Given the description of an element on the screen output the (x, y) to click on. 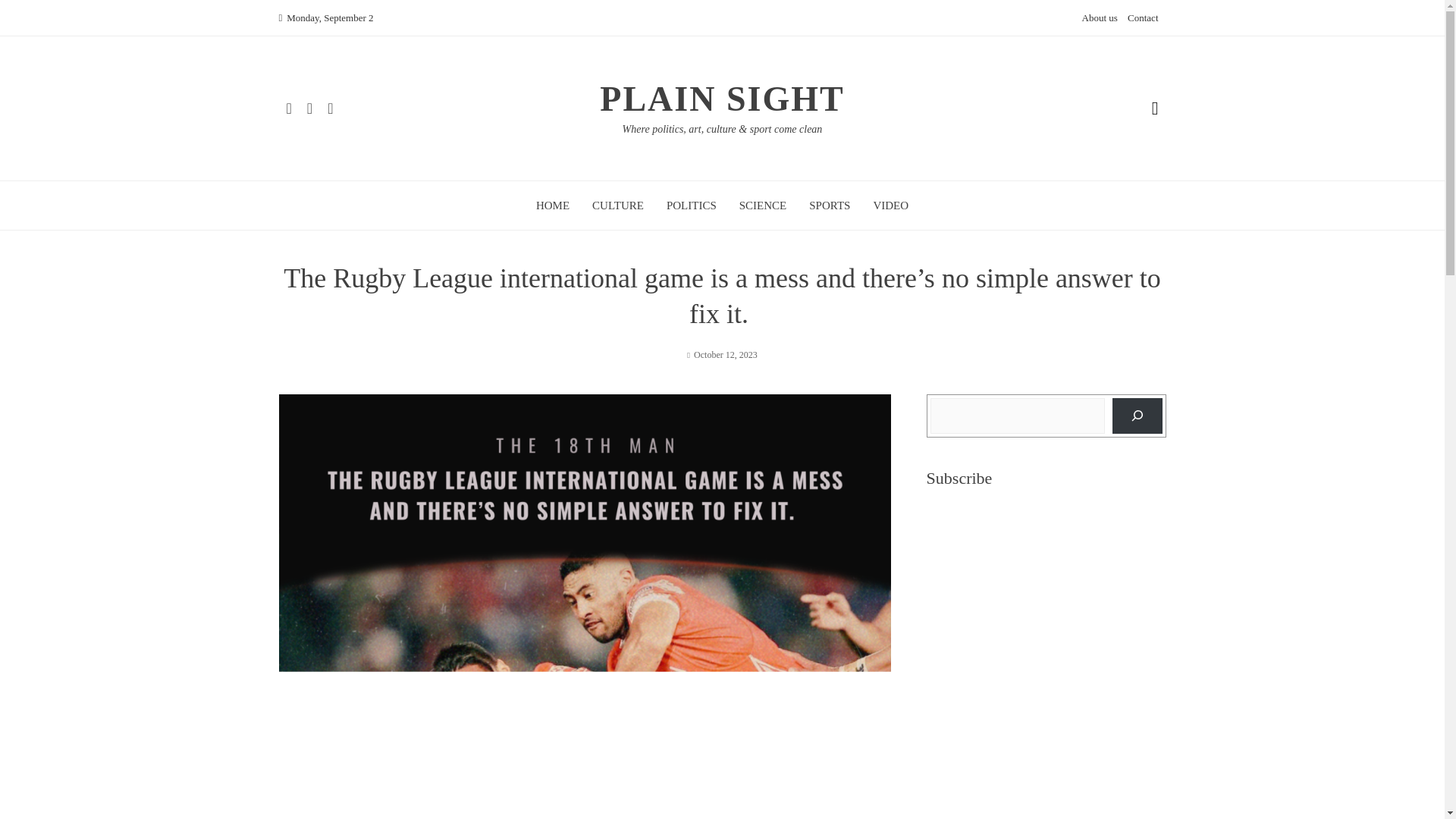
PLAIN SIGHT (721, 98)
VIDEO (890, 205)
POLITICS (691, 205)
Contact (1141, 17)
SCIENCE (763, 205)
HOME (552, 205)
About us (1098, 17)
CULTURE (617, 205)
SPORTS (829, 205)
